Given the description of an element on the screen output the (x, y) to click on. 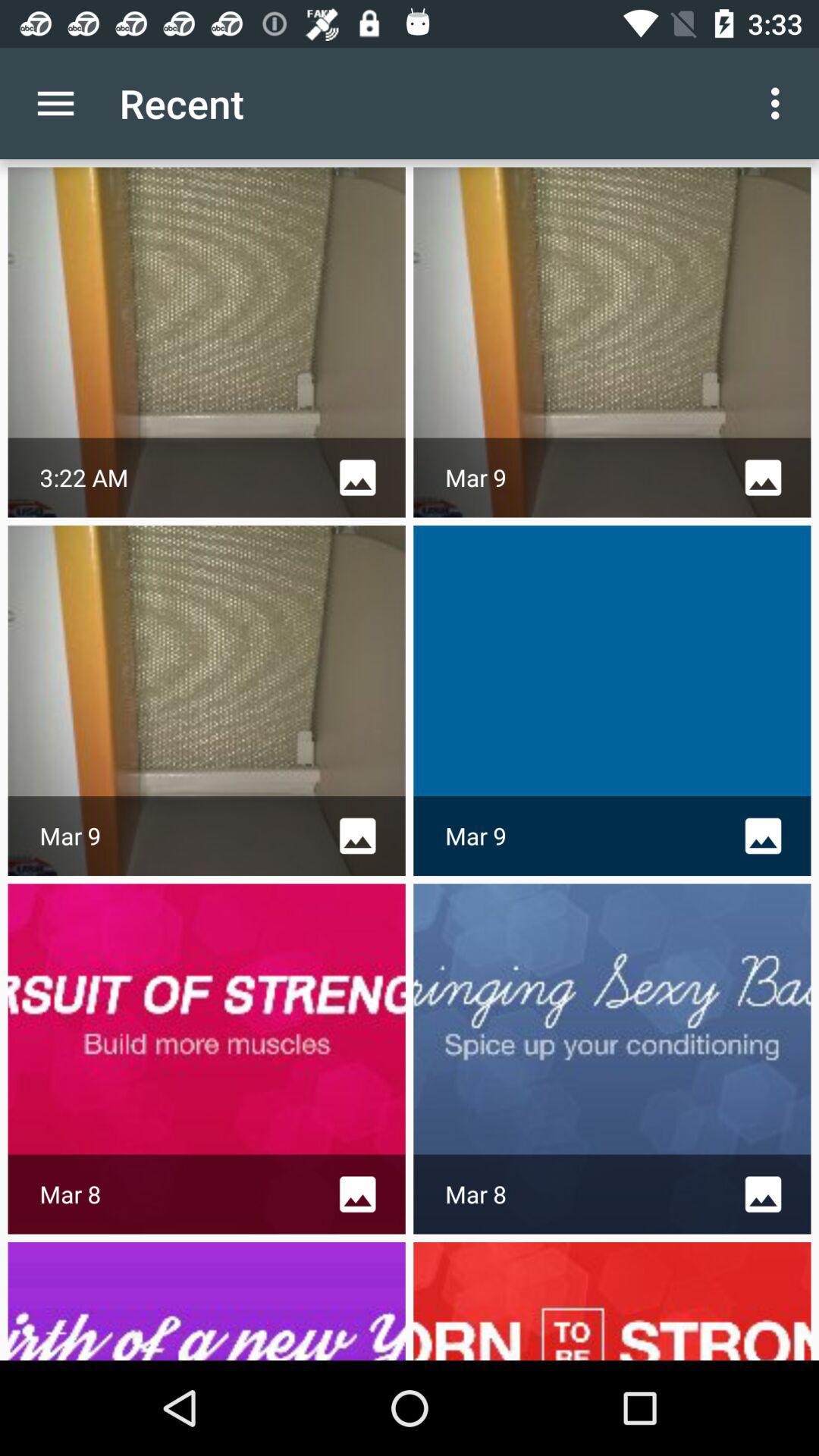
launch the item next to recent app (55, 103)
